Given the description of an element on the screen output the (x, y) to click on. 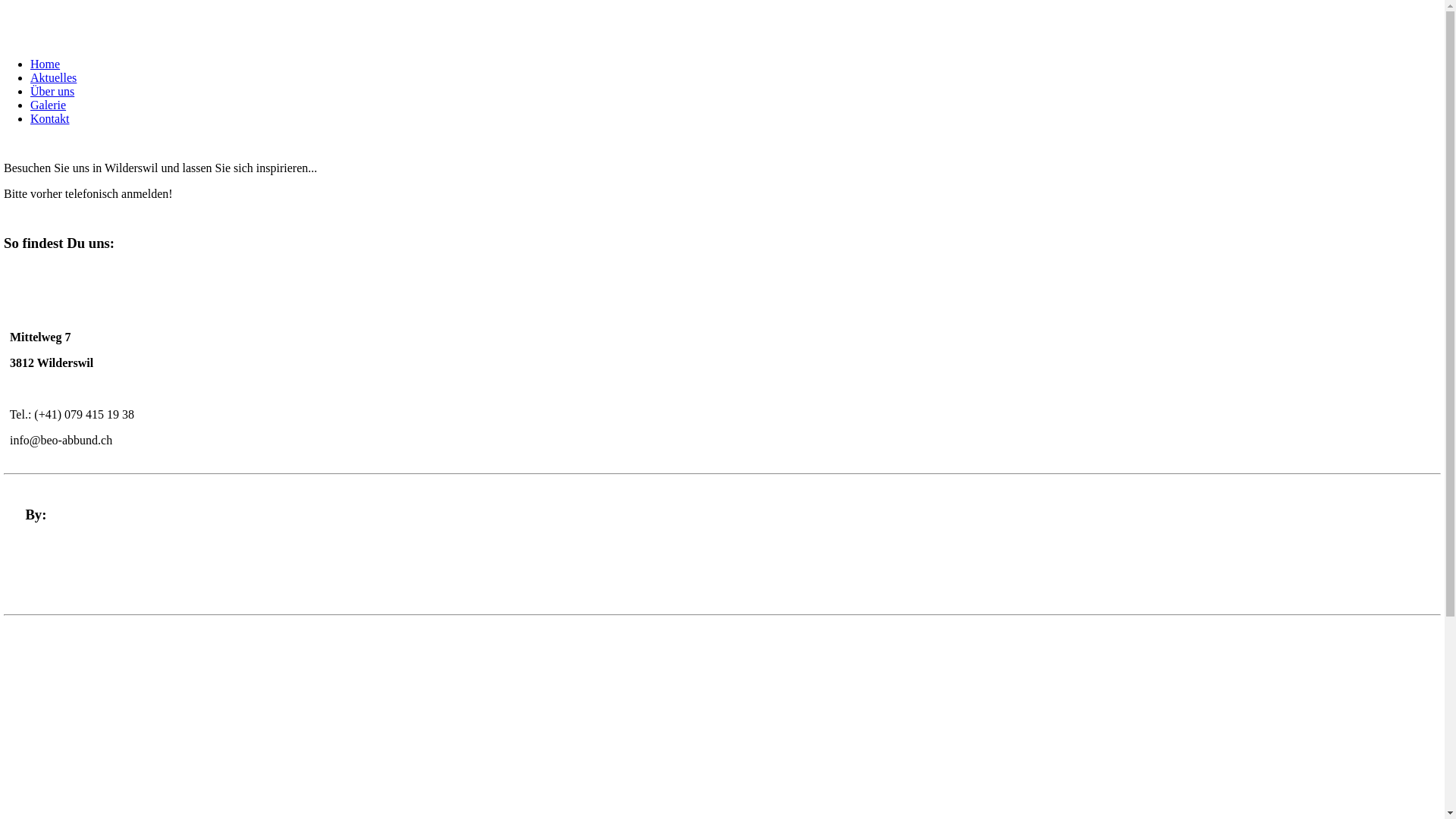
Galerie Element type: text (47, 104)
Kontakt Element type: text (49, 118)
Aktuelles Element type: text (53, 77)
Home Element type: text (44, 63)
